Given the description of an element on the screen output the (x, y) to click on. 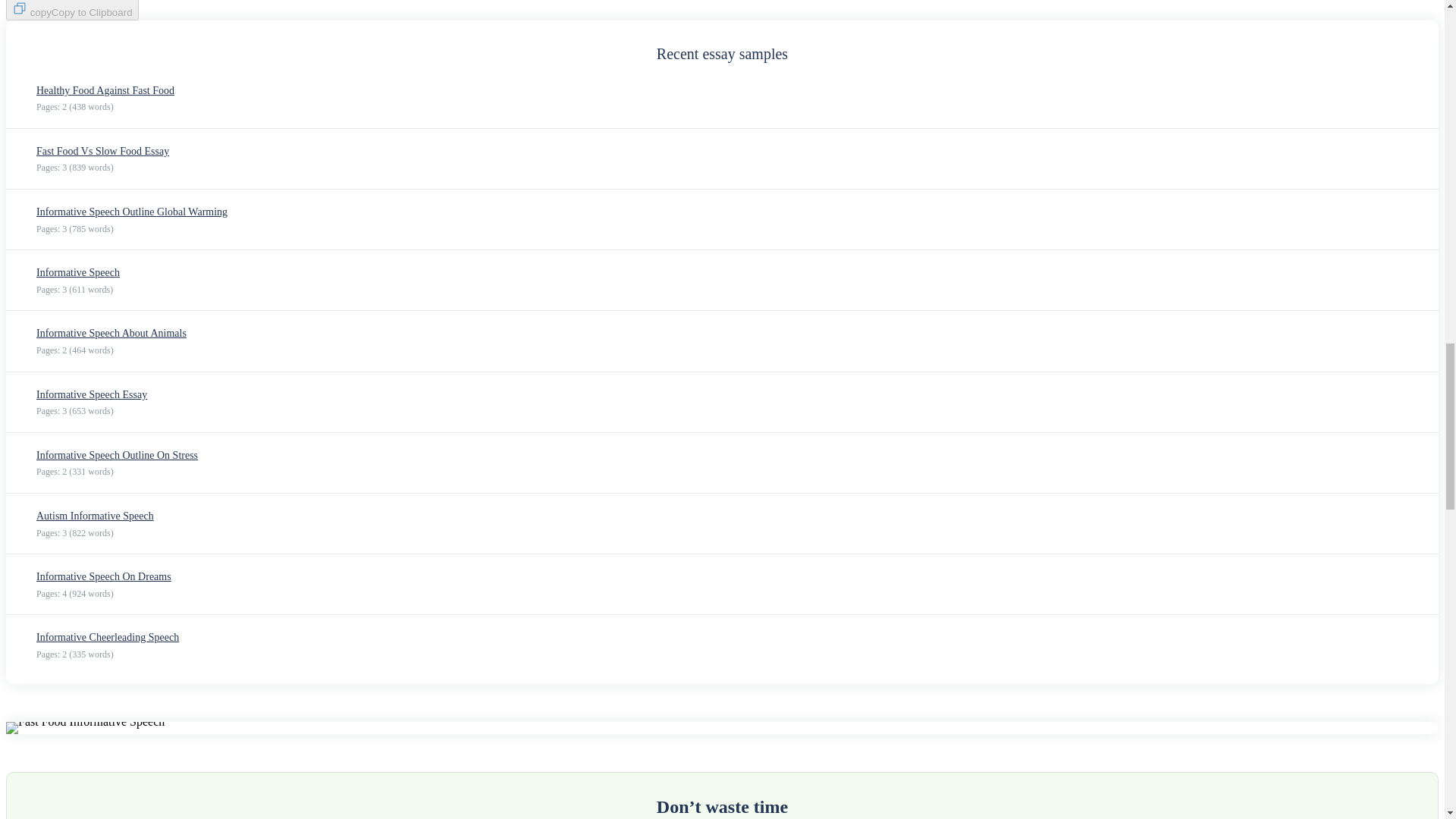
Informative Speech About Animals (111, 333)
Informative Speech (77, 272)
copyCopy to Clipboard (71, 10)
Informative Speech Outline Global Warming (131, 211)
Healthy Food Against Fast Food (105, 90)
Fast Food Vs Slow Food Essay (102, 151)
Informative Speech On Dreams (103, 576)
Informative Speech Essay (91, 394)
Informative Speech Outline On Stress (117, 455)
Informative Cheerleading Speech (107, 636)
